Given the description of an element on the screen output the (x, y) to click on. 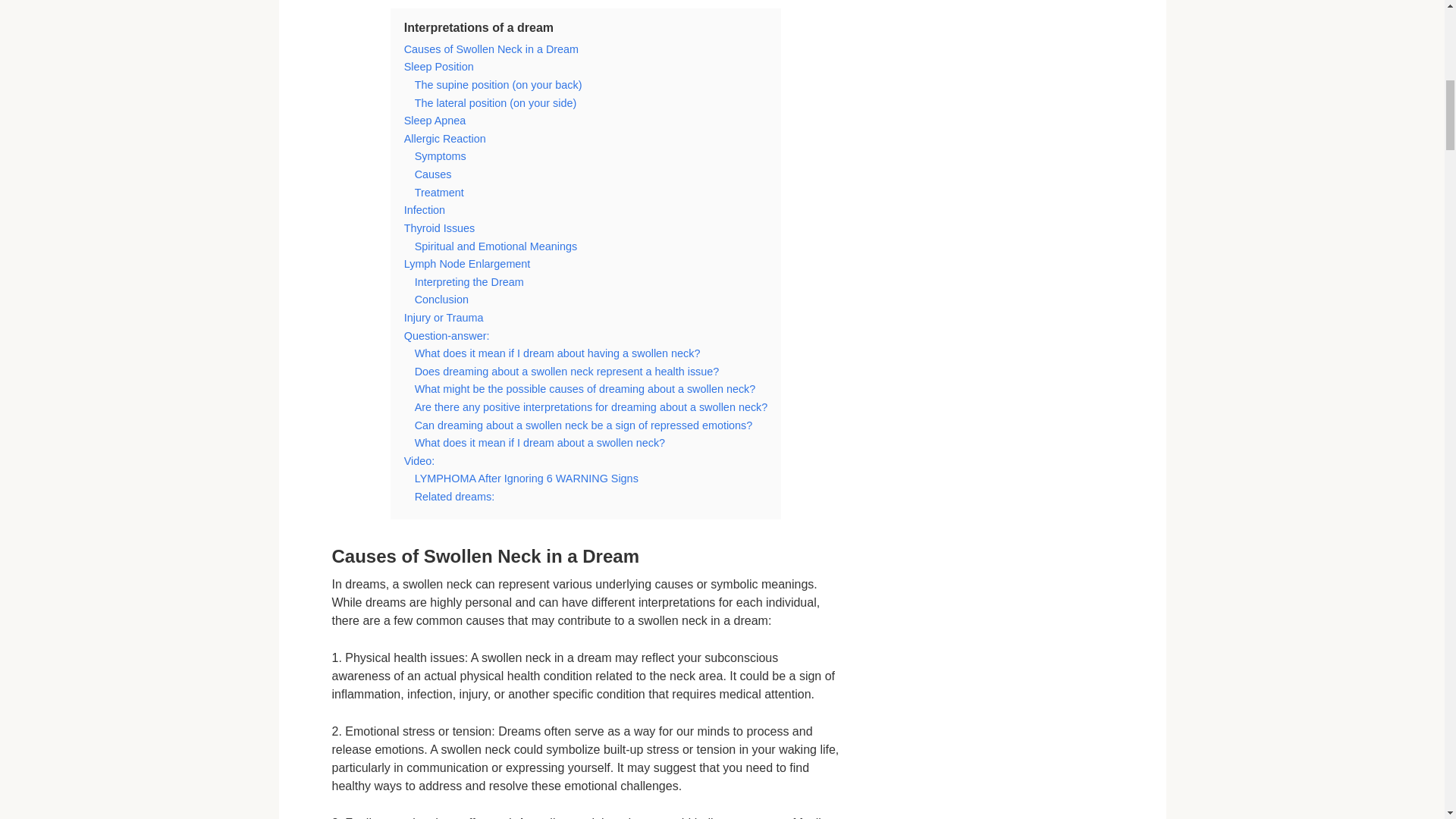
Allergic Reaction (445, 138)
Treatment (439, 192)
Symptoms (439, 155)
Infection (424, 209)
Causes (432, 174)
Causes of Swollen Neck in a Dream (491, 49)
Sleep Position (439, 66)
Sleep Apnea (434, 120)
Thyroid Issues (440, 227)
